Given the description of an element on the screen output the (x, y) to click on. 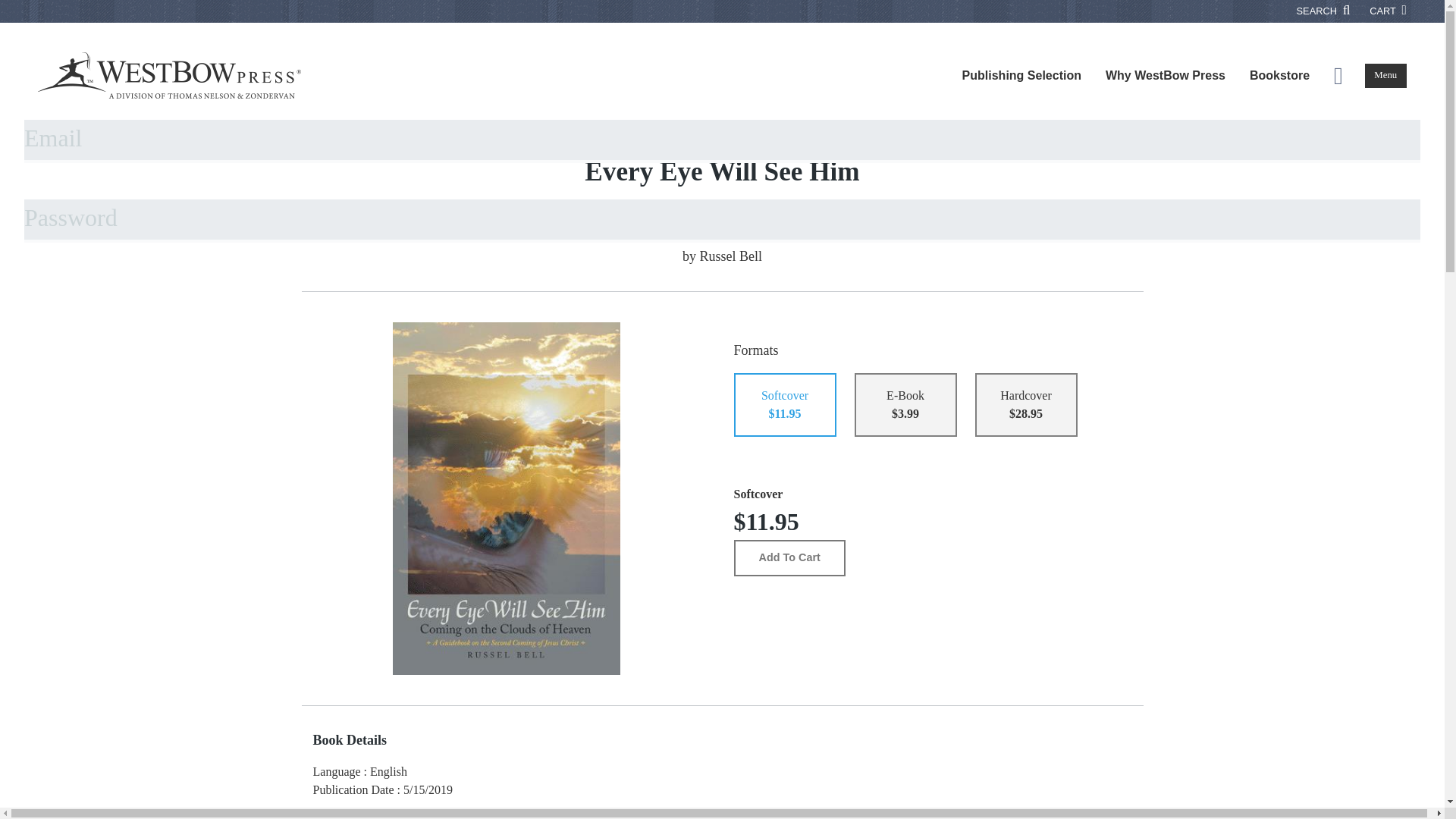
CART (1388, 11)
Add To Cart (789, 557)
SEARCH (1324, 11)
Why WestBow Press (1165, 75)
Bookstore (1279, 75)
Publishing Selection (1021, 75)
Menu (1385, 75)
